Given the description of an element on the screen output the (x, y) to click on. 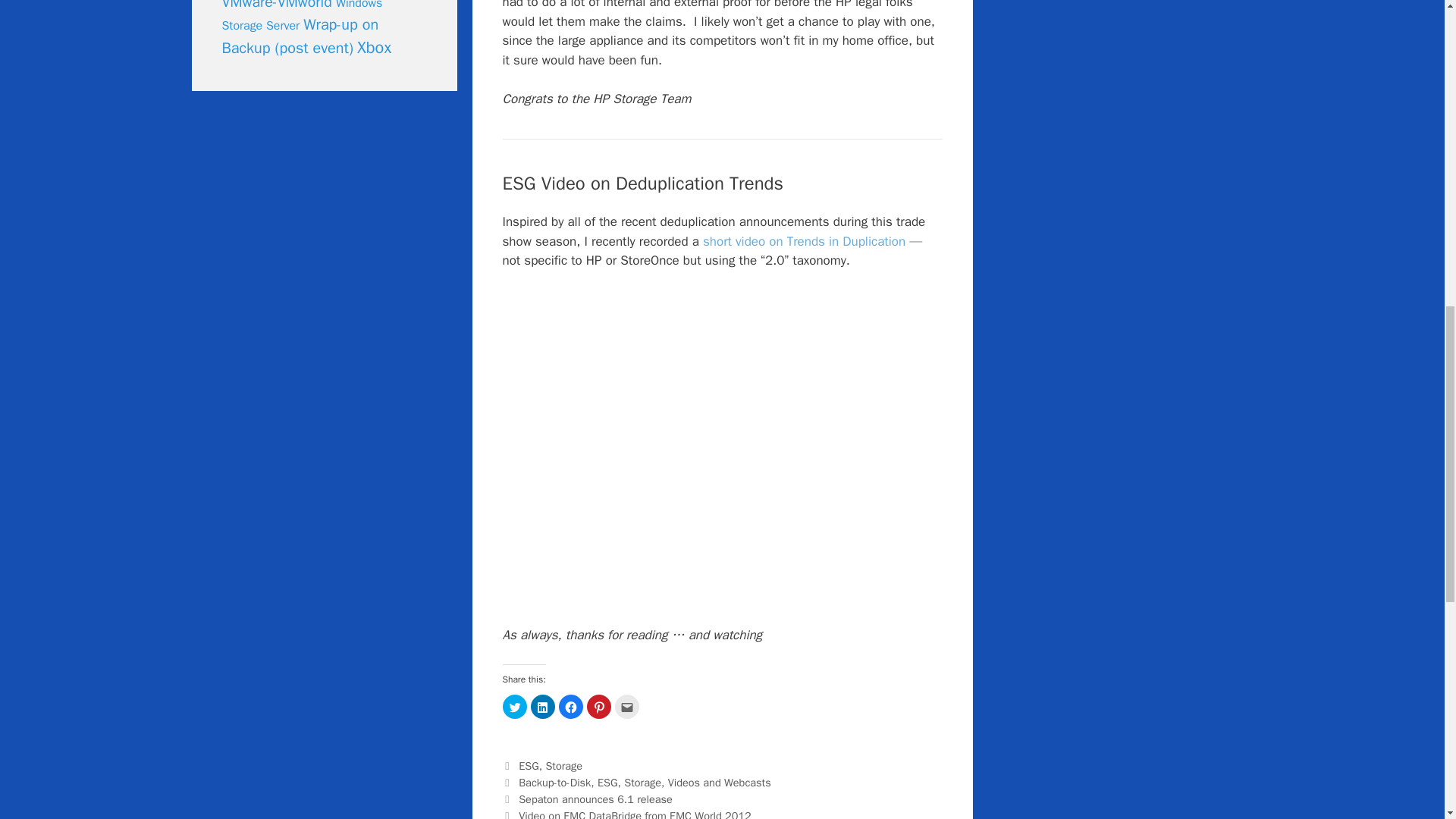
Storage (642, 782)
short video on Trends in Duplication (804, 241)
Next (626, 813)
Storage (563, 766)
Click to share on LinkedIn (542, 706)
Previous (586, 798)
Click to share on Pinterest (598, 706)
Video on EMC DataBridge from EMC World 2012 (634, 813)
Backup-to-Disk (554, 782)
Click to email this to a friend (626, 706)
